Given the description of an element on the screen output the (x, y) to click on. 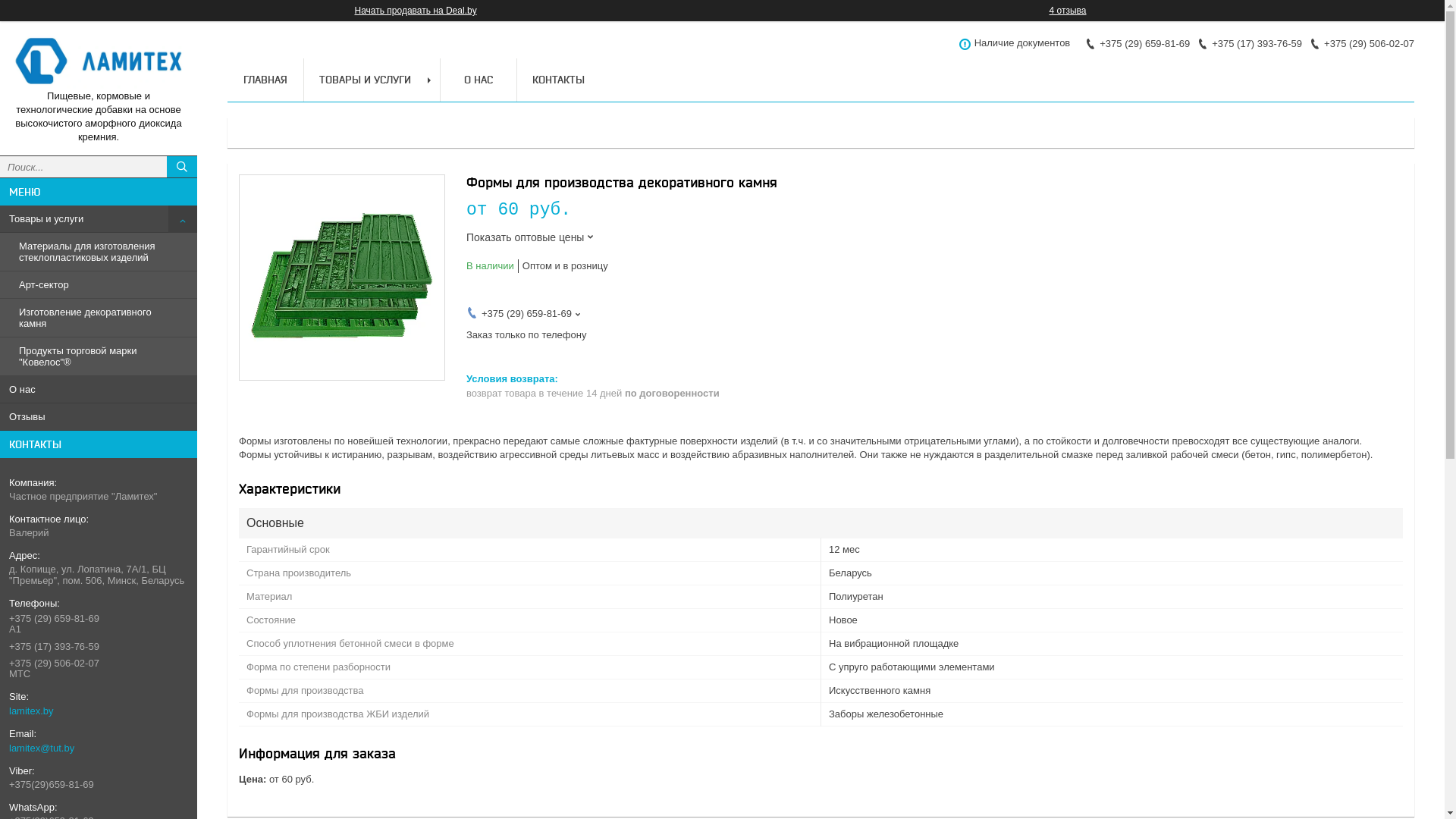
lamitex.by Element type: text (92, 710)
lamitex@tut.by Element type: text (41, 747)
